Given the description of an element on the screen output the (x, y) to click on. 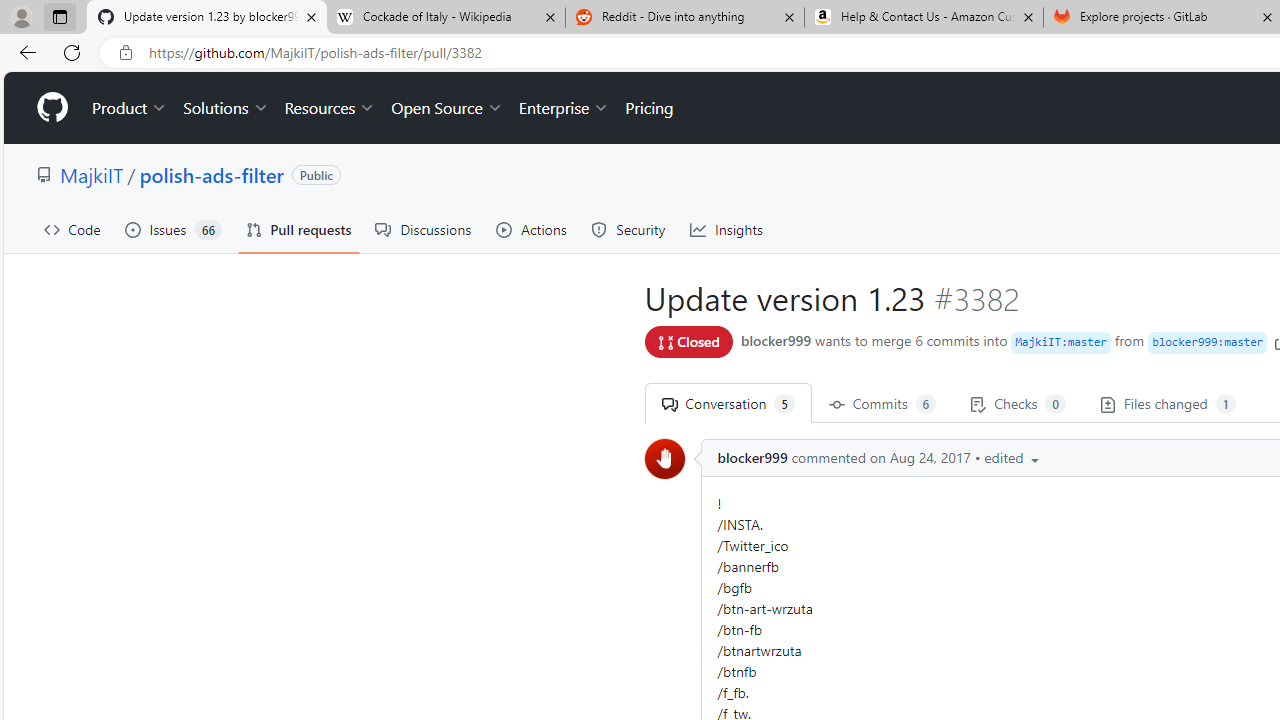
 Files changed 1 (1167, 403)
Pricing (649, 107)
